Given the description of an element on the screen output the (x, y) to click on. 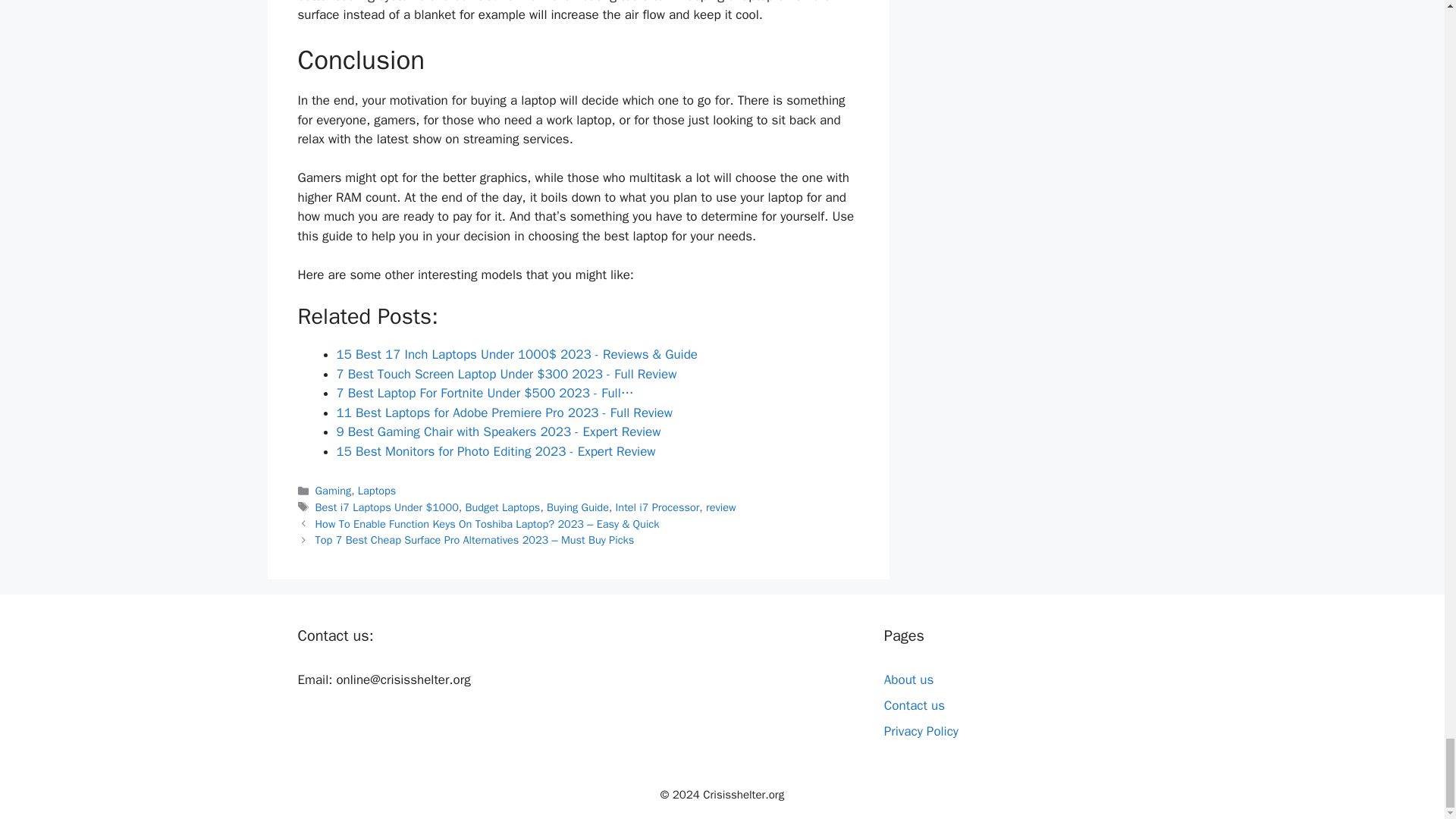
9 Best Gaming Chair with Speakers 2023 - Expert Review (498, 431)
Gaming (333, 490)
Buying Guide (577, 507)
Laptops (377, 490)
15 Best Monitors for Photo Editing 2023 - Expert Review (496, 451)
11 Best Laptops for Adobe Premiere Pro 2023 - Full Review (504, 412)
Budget Laptops (502, 507)
Intel i7 Processor (657, 507)
review (721, 507)
